Given the description of an element on the screen output the (x, y) to click on. 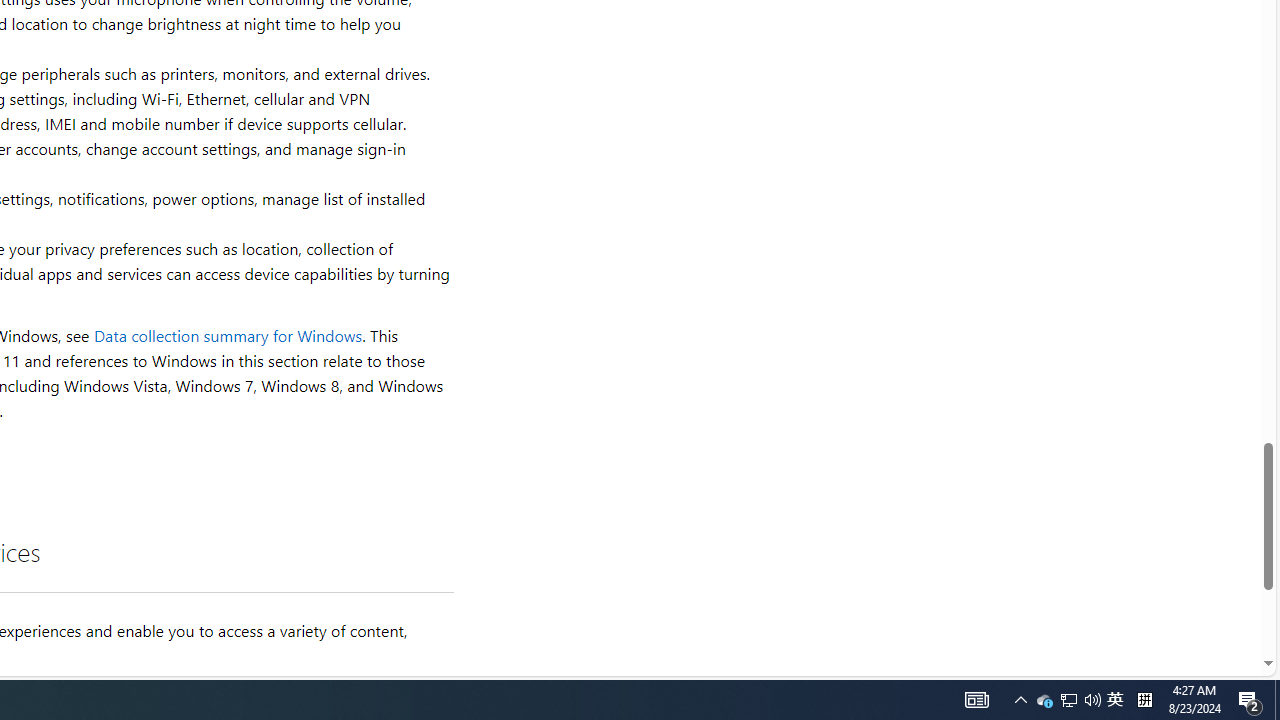
Data collection summary for Windows (228, 335)
